Given the description of an element on the screen output the (x, y) to click on. 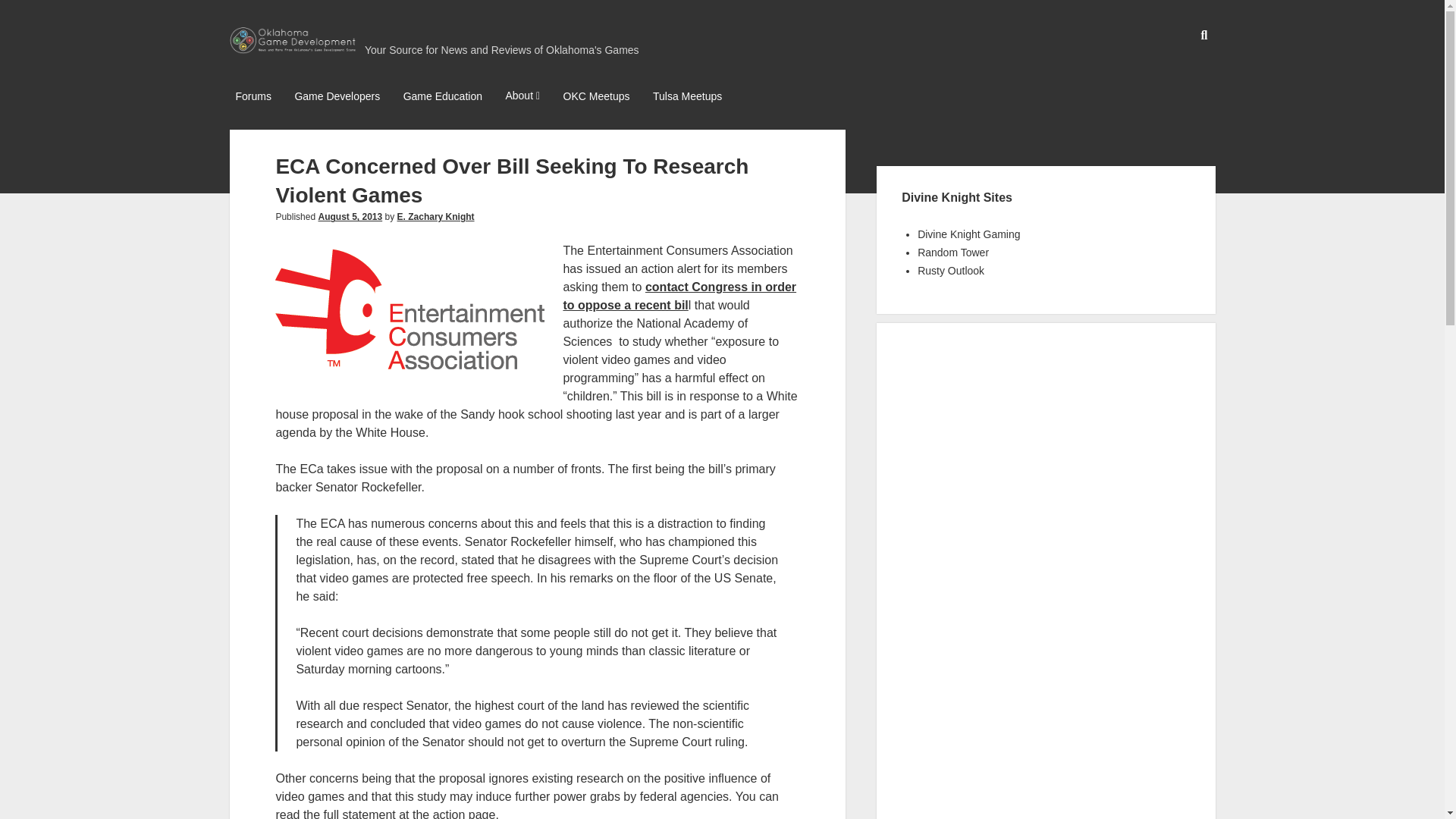
Forums (252, 96)
Game Education (442, 96)
Divine Knight Gaming (968, 234)
E. Zachary Knight (435, 216)
About (522, 96)
August 5, 2013 (349, 216)
Random Tower (952, 252)
contact Congress in order to oppose a recent bil (679, 296)
Rusty Outlook (950, 270)
OKC Meetups (596, 96)
Tulsa Meetups (687, 96)
Game Developers (336, 96)
Oklahoma Game Development (292, 47)
